Given the description of an element on the screen output the (x, y) to click on. 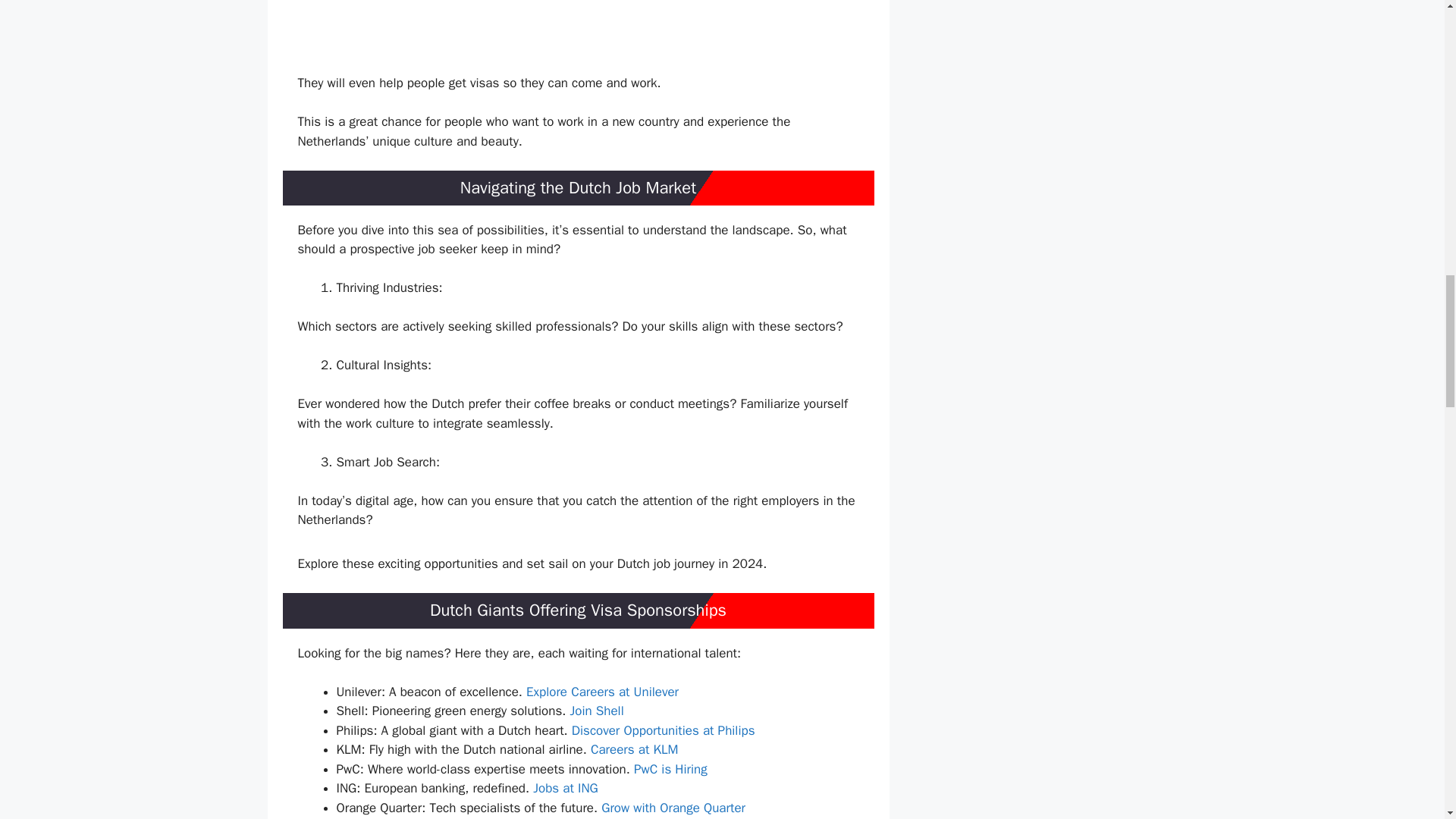
Advertisement (600, 36)
Grow with Orange Quarter (673, 807)
Explore Careers at Unilever (601, 691)
Join Shell (596, 710)
Jobs at ING (565, 788)
PwC is Hiring (670, 769)
Discover Opportunities at Philips (663, 730)
Careers at KLM (634, 749)
